Given the description of an element on the screen output the (x, y) to click on. 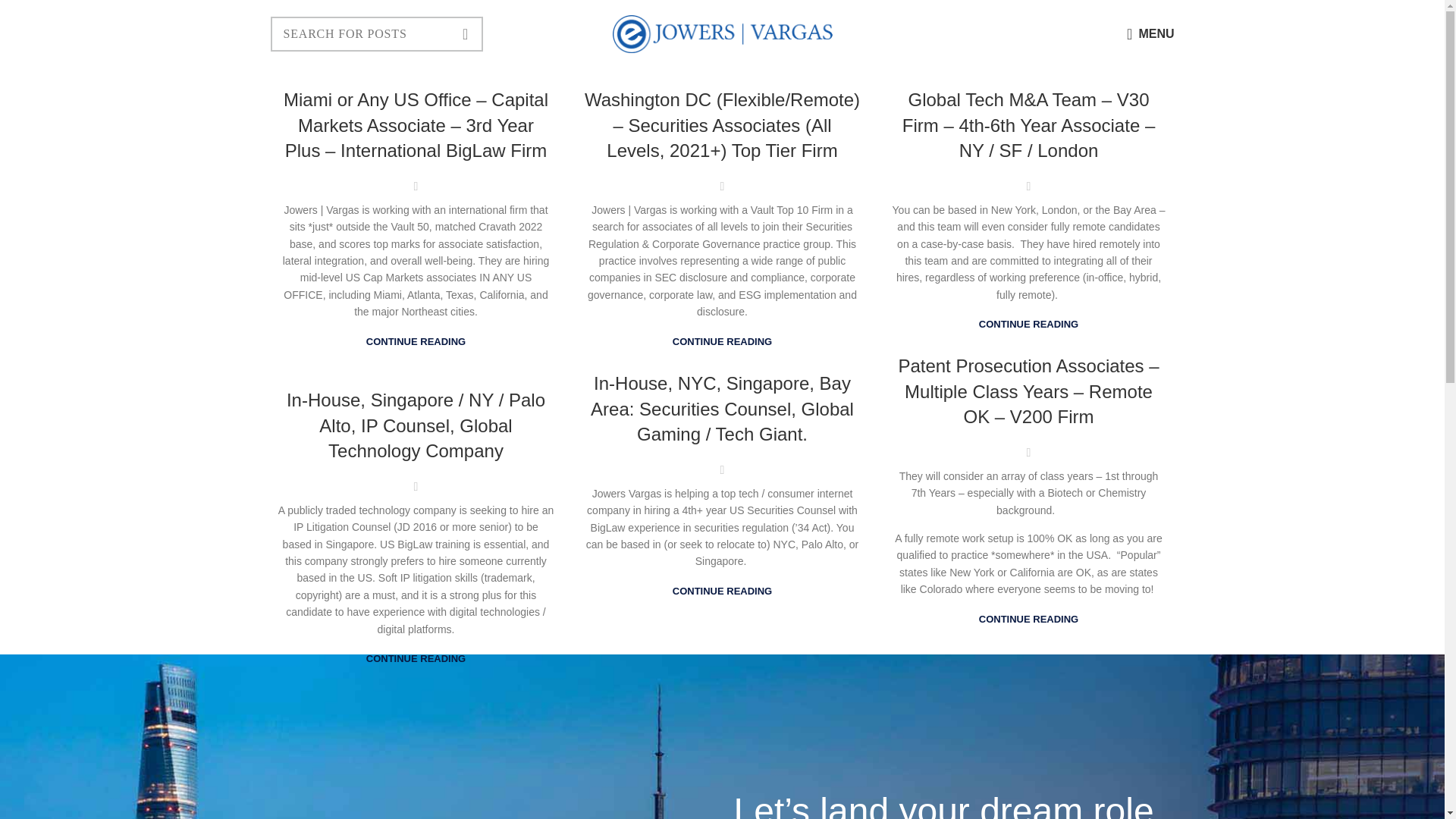
CONTINUE READING (1028, 324)
MENU (1149, 33)
CONTINUE READING (1028, 619)
SEARCH (465, 33)
CONTINUE READING (721, 341)
Search for posts (375, 33)
CONTINUE READING (415, 341)
